Given the description of an element on the screen output the (x, y) to click on. 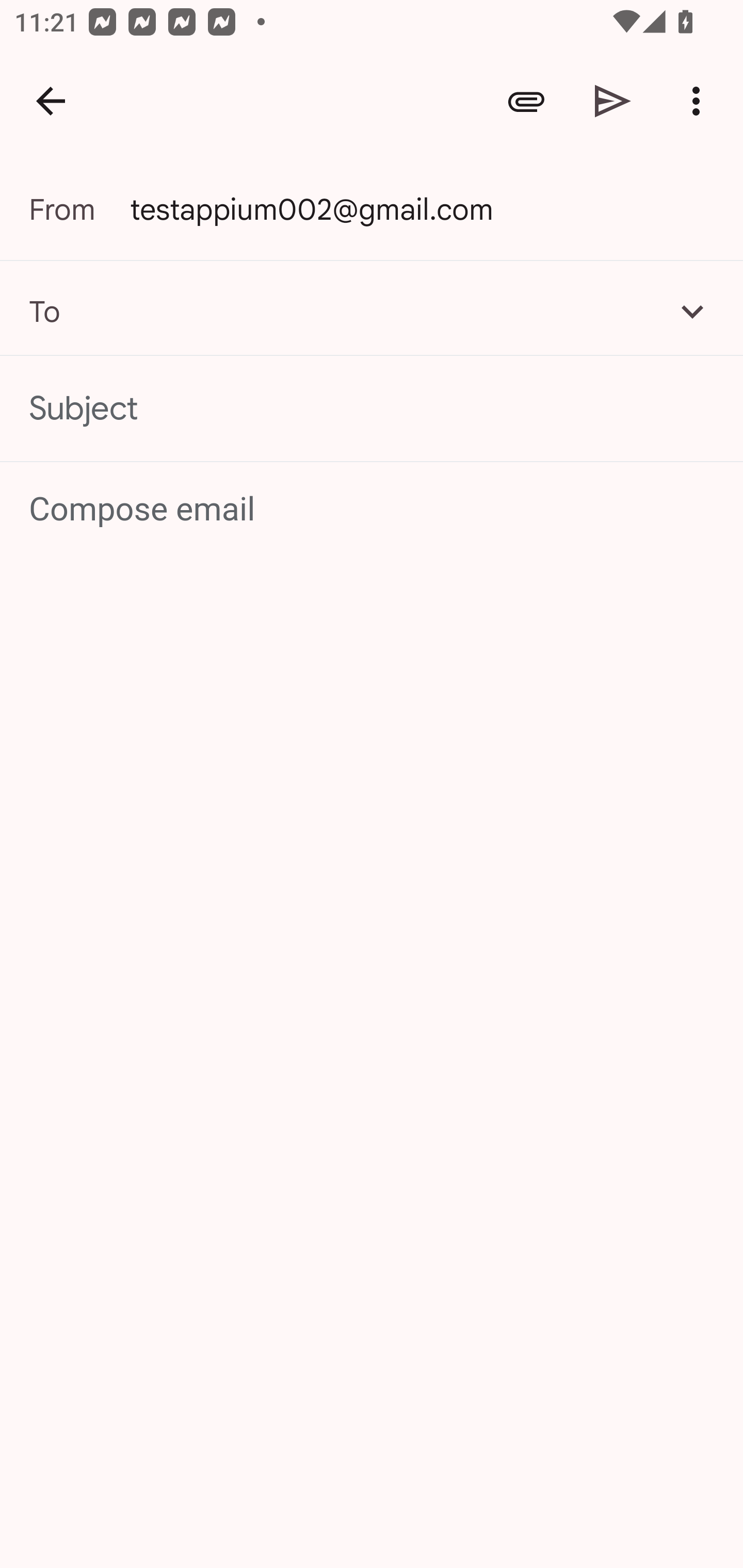
Navigate up (50, 101)
Attach file (525, 101)
Send (612, 101)
More options (699, 101)
From (79, 209)
Add Cc/Bcc (692, 311)
Subject (371, 407)
